Given the description of an element on the screen output the (x, y) to click on. 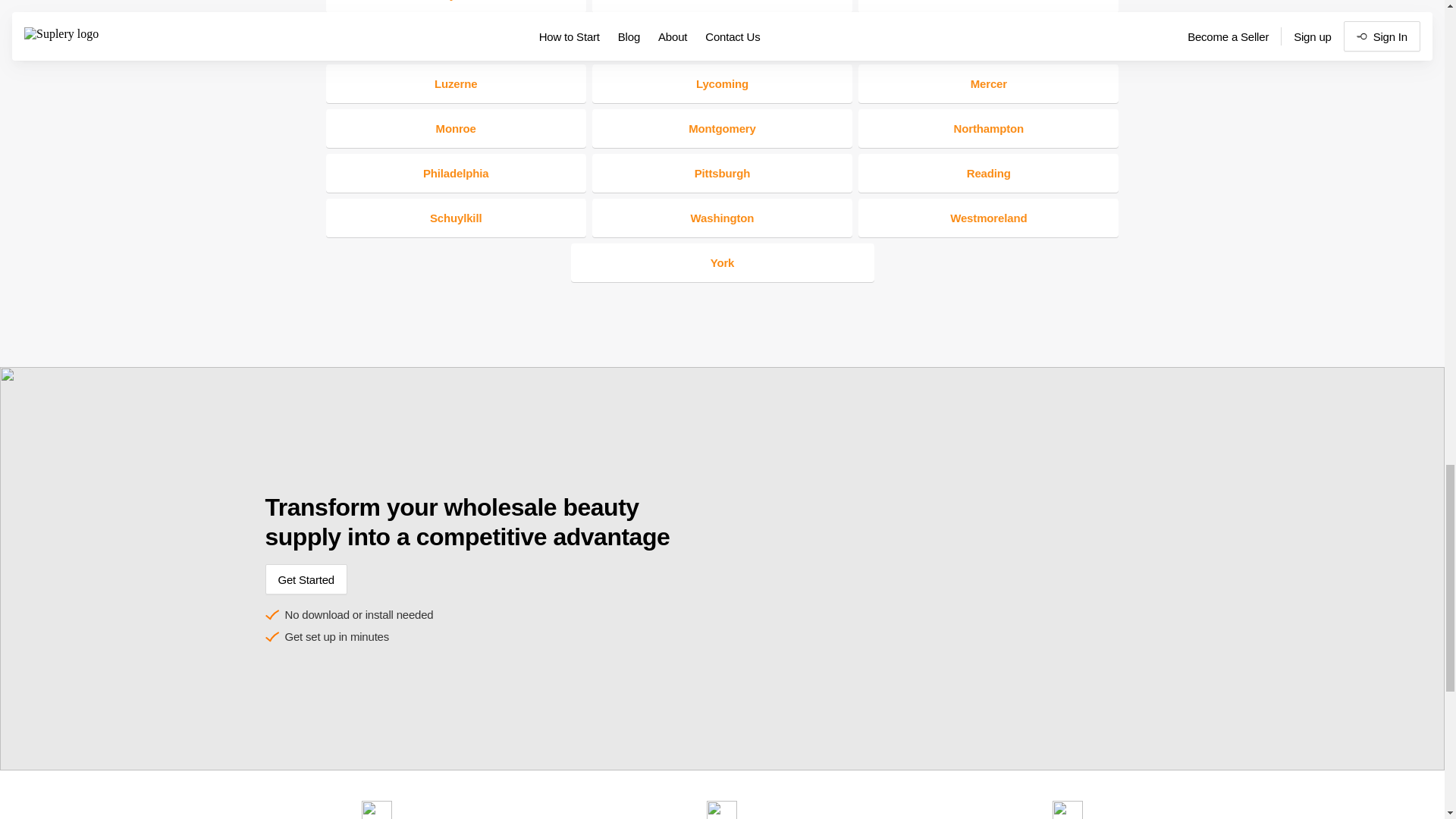
Franklin (721, 6)
Luzerne (456, 83)
Lackawanna (988, 6)
Lancaster (456, 38)
Fayette (456, 6)
Lycoming (721, 83)
Lehigh (988, 38)
Lebanon (721, 38)
